Given the description of an element on the screen output the (x, y) to click on. 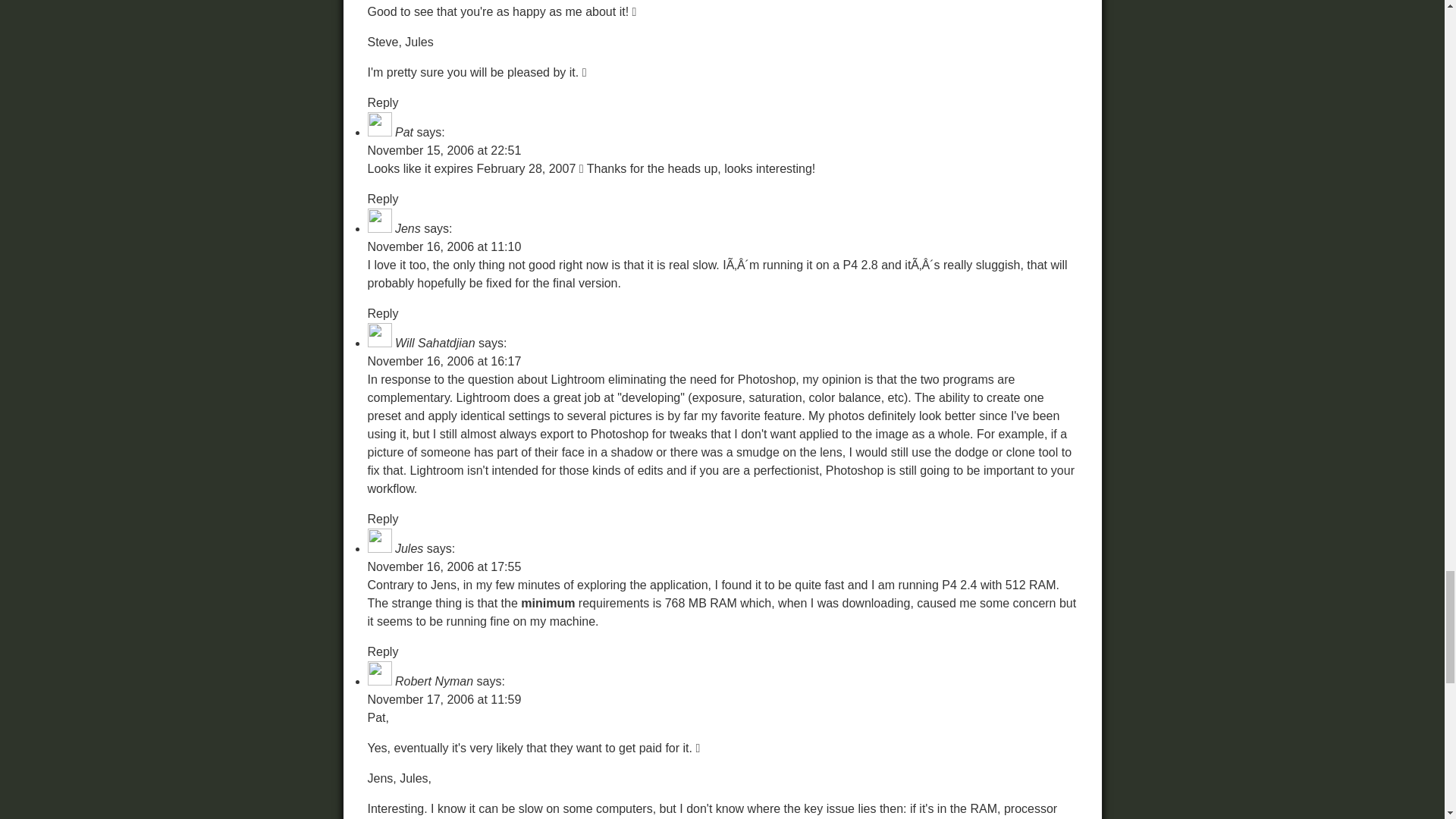
Reply (381, 198)
Pat (403, 132)
Reply (381, 102)
November 15, 2006 at 22:51 (443, 150)
